Given the description of an element on the screen output the (x, y) to click on. 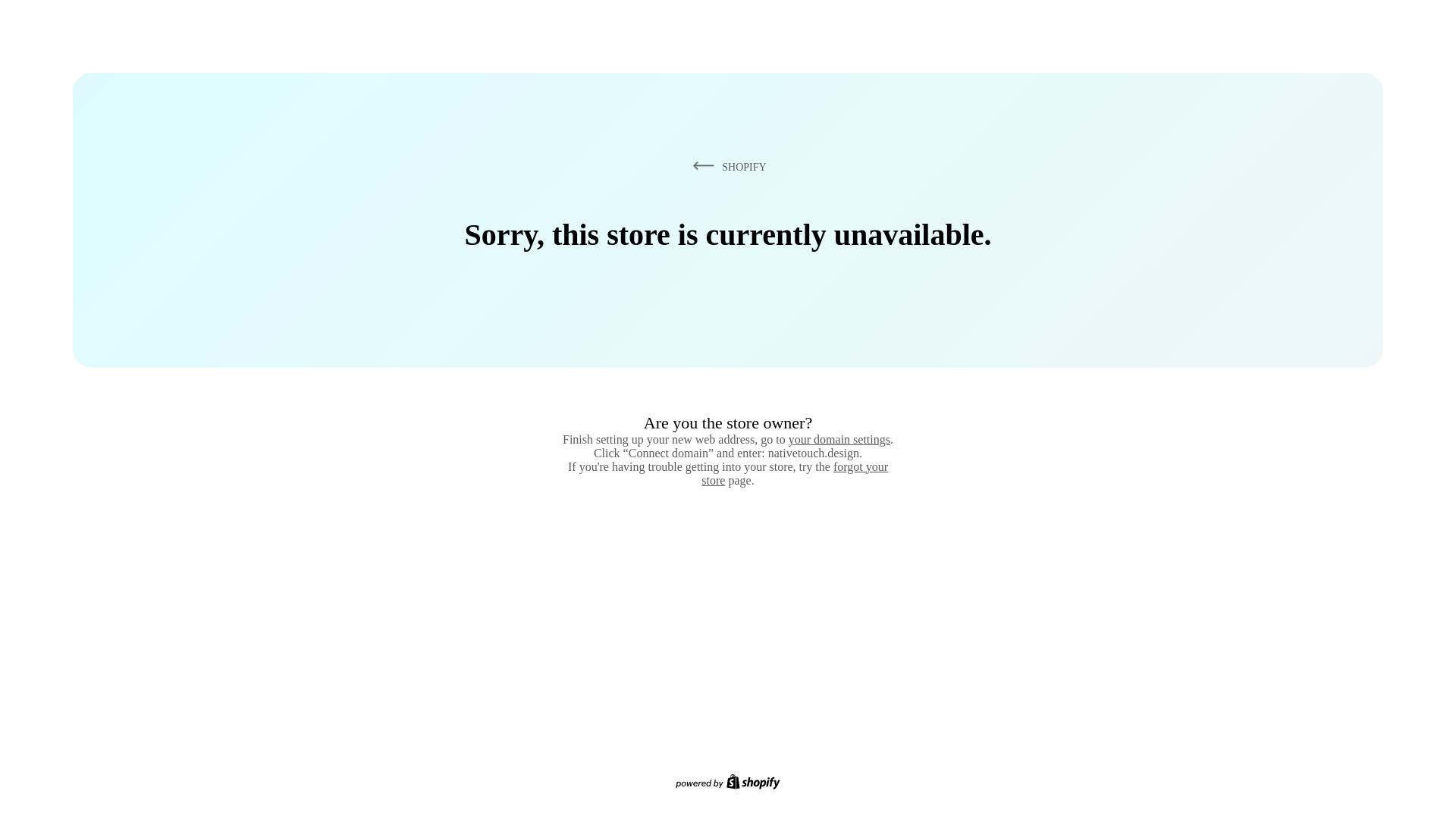
forgot your store (794, 473)
your domain settings (839, 439)
SHOPIFY (726, 166)
